Given the description of an element on the screen output the (x, y) to click on. 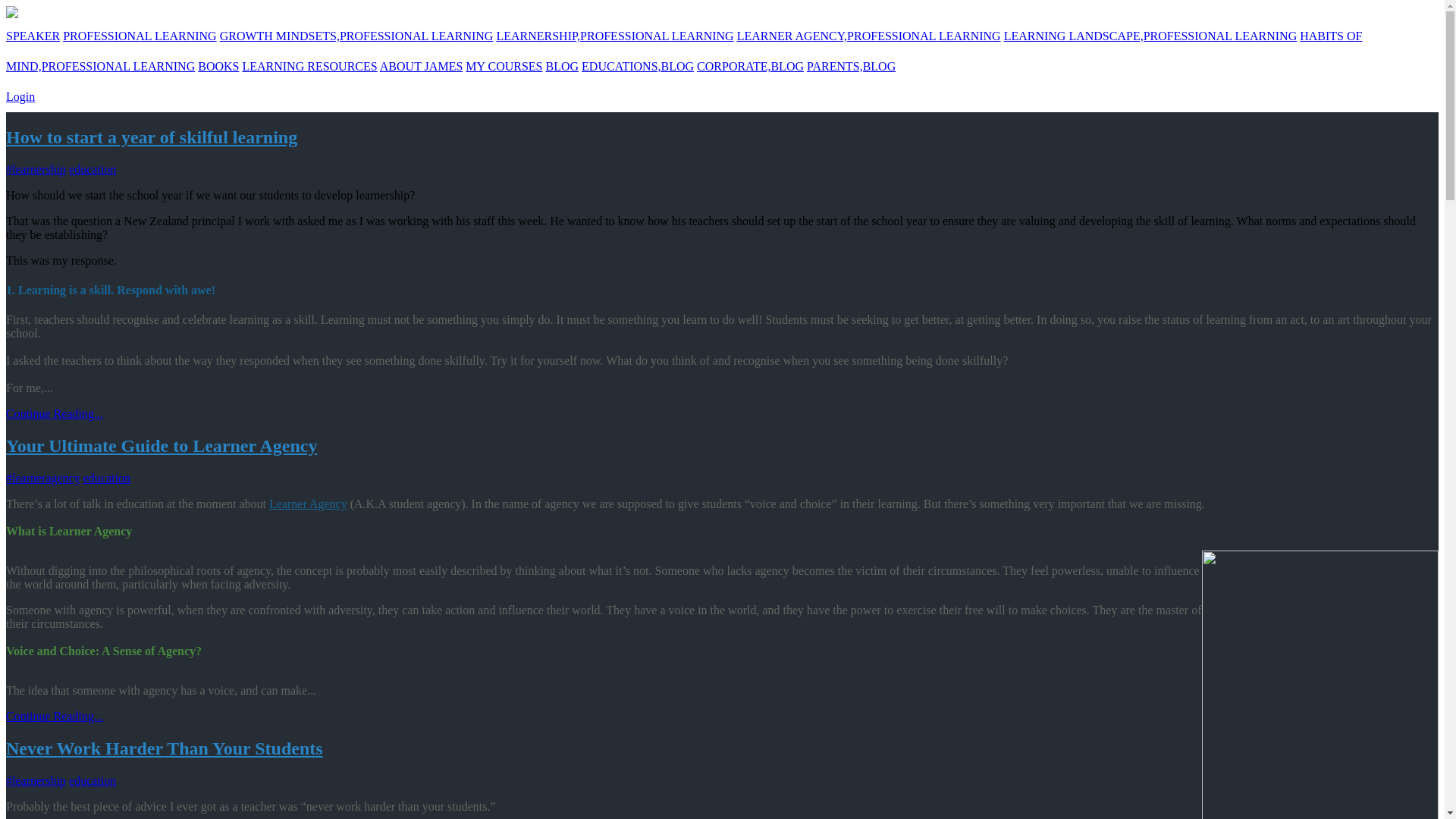
MY COURSES Element type: text (503, 65)
education Element type: text (92, 780)
EDUCATIONS,BLOG Element type: text (637, 65)
education Element type: text (106, 477)
LEARNING LANDSCAPE,PROFESSIONAL LEARNING Element type: text (1150, 35)
Continue Reading... Element type: text (54, 413)
Continue Reading... Element type: text (54, 715)
CORPORATE,BLOG Element type: text (749, 65)
GROWTH MINDSETS,PROFESSIONAL LEARNING Element type: text (356, 35)
PARENTS,BLOG Element type: text (850, 65)
PROFESSIONAL LEARNING Element type: text (139, 35)
education Element type: text (92, 169)
LEARNERSHIP,PROFESSIONAL LEARNING Element type: text (614, 35)
Your Ultimate Guide to Learner Agency Element type: text (161, 445)
Login Element type: text (20, 96)
#learnership Element type: text (35, 169)
HABITS OF MIND,PROFESSIONAL LEARNING Element type: text (683, 50)
LEARNING RESOURCES Element type: text (308, 65)
Learner Agency Element type: text (308, 503)
BOOKS Element type: text (217, 65)
ABOUT JAMES Element type: text (421, 65)
Never Work Harder Than Your Students Element type: text (164, 748)
BLOG Element type: text (562, 65)
How to start a year of skilful learning Element type: text (151, 137)
SPEAKER Element type: text (32, 35)
#learneragency Element type: text (43, 477)
#learnership Element type: text (35, 780)
LEARNER AGENCY,PROFESSIONAL LEARNING Element type: text (869, 35)
